Given the description of an element on the screen output the (x, y) to click on. 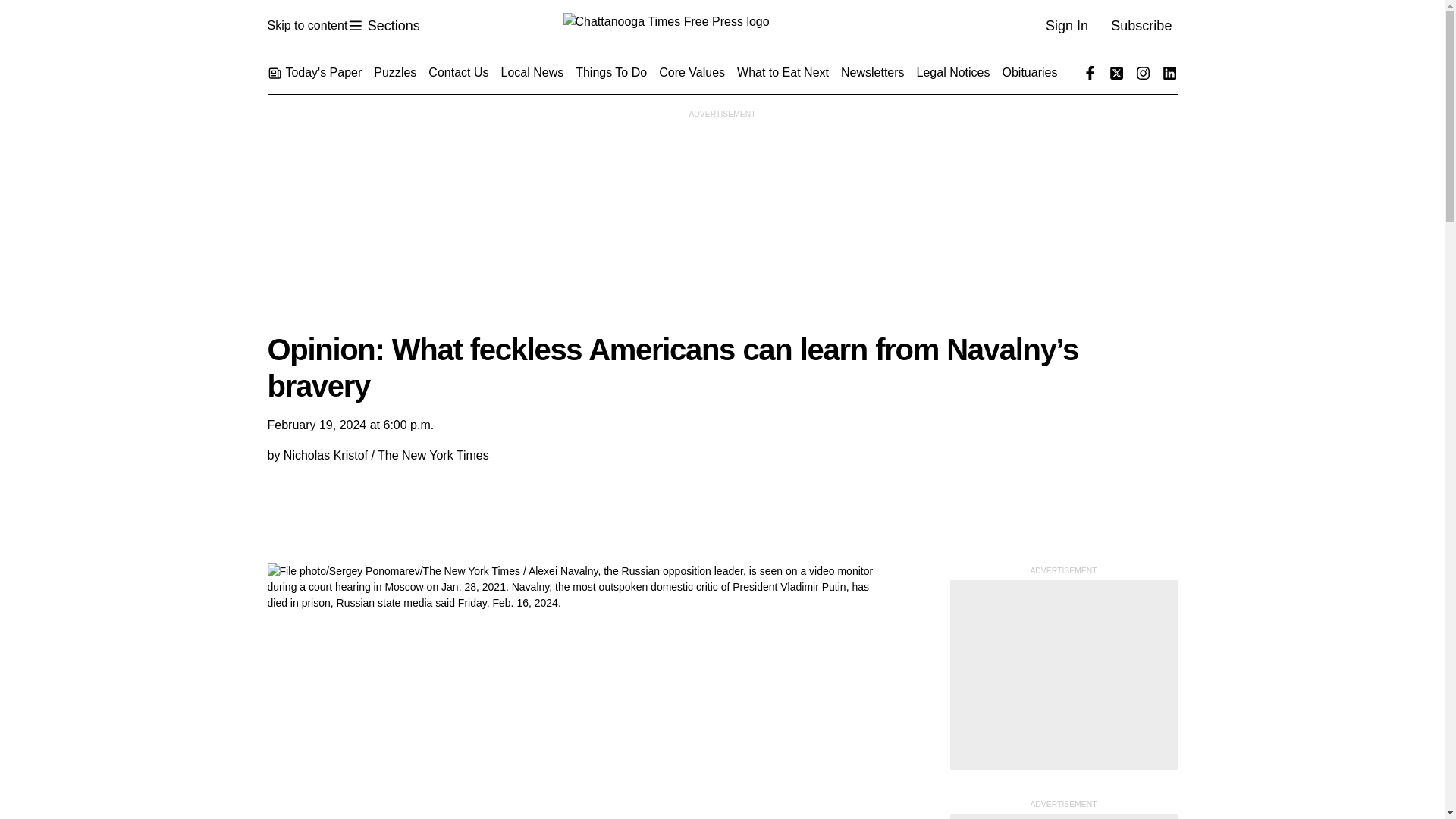
Times Free Press (721, 25)
Skip to content (383, 25)
